Given the description of an element on the screen output the (x, y) to click on. 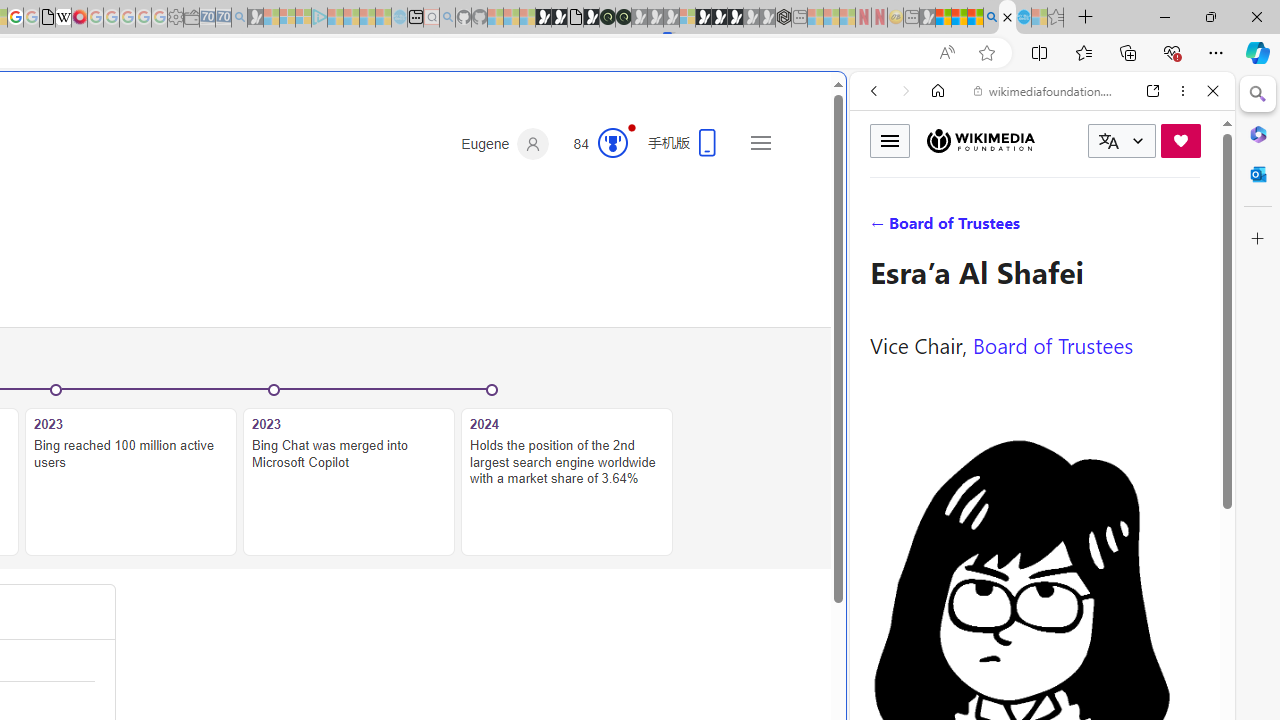
Wallet - Sleeping (191, 17)
Favorites - Sleeping (1055, 17)
Microsoft Rewards 84 (594, 143)
Frequently visited (418, 265)
Class: i icon icon-translate language-switcher__icon (1108, 141)
2009 Bing officially replaced Live Search on June 3 - Search (1007, 17)
